Given the description of an element on the screen output the (x, y) to click on. 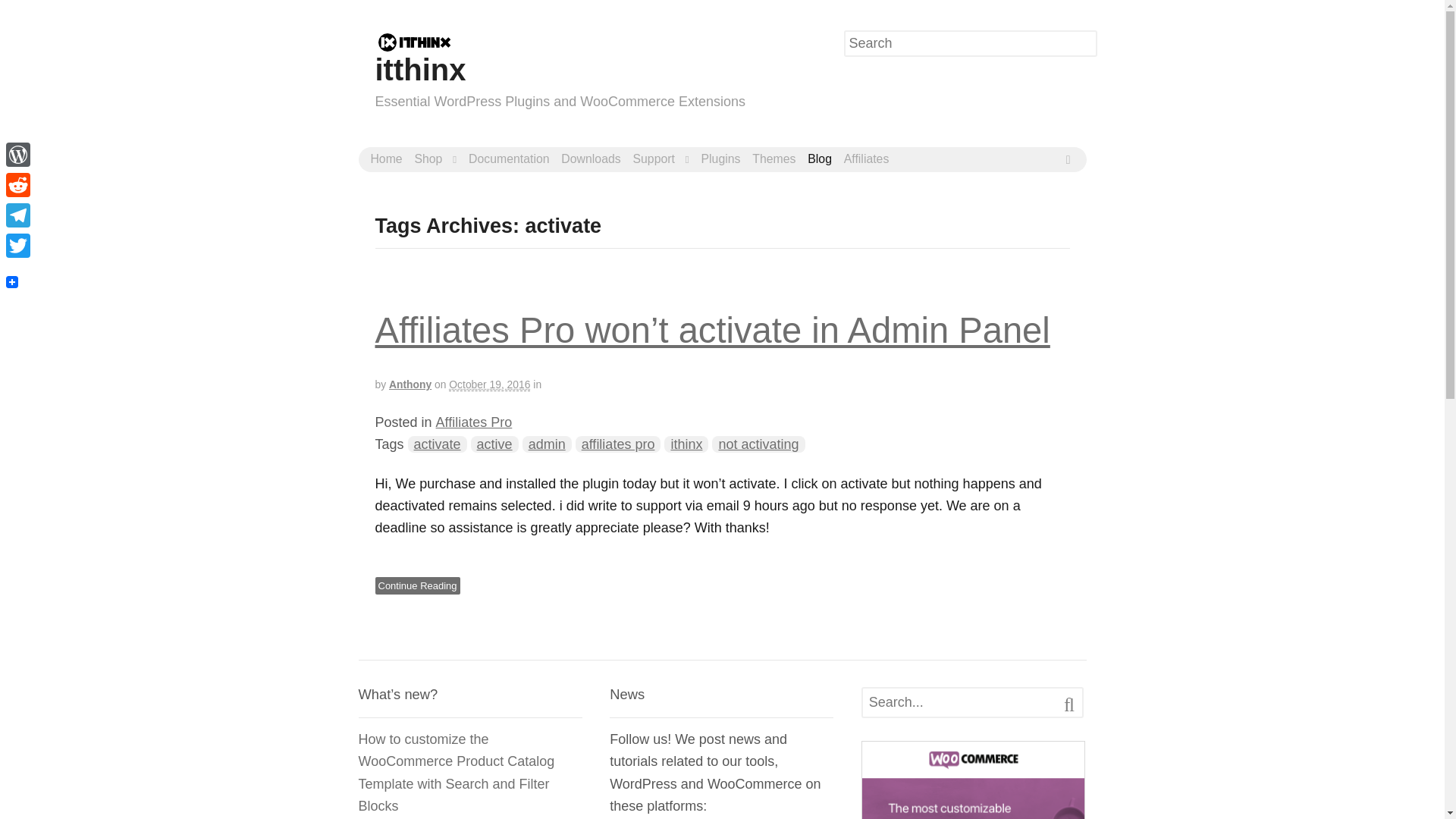
WooCommerce (972, 780)
Posts by Anthony (409, 384)
Documentation (508, 159)
Reddit (17, 184)
Themes (773, 159)
Downloads (590, 159)
WordPress (17, 154)
Home (385, 159)
Continue Reading (417, 585)
not activating (758, 443)
Telegram (17, 214)
Continue Reading (417, 585)
Blog (820, 159)
ithinx (685, 443)
admin (547, 443)
